Given the description of an element on the screen output the (x, y) to click on. 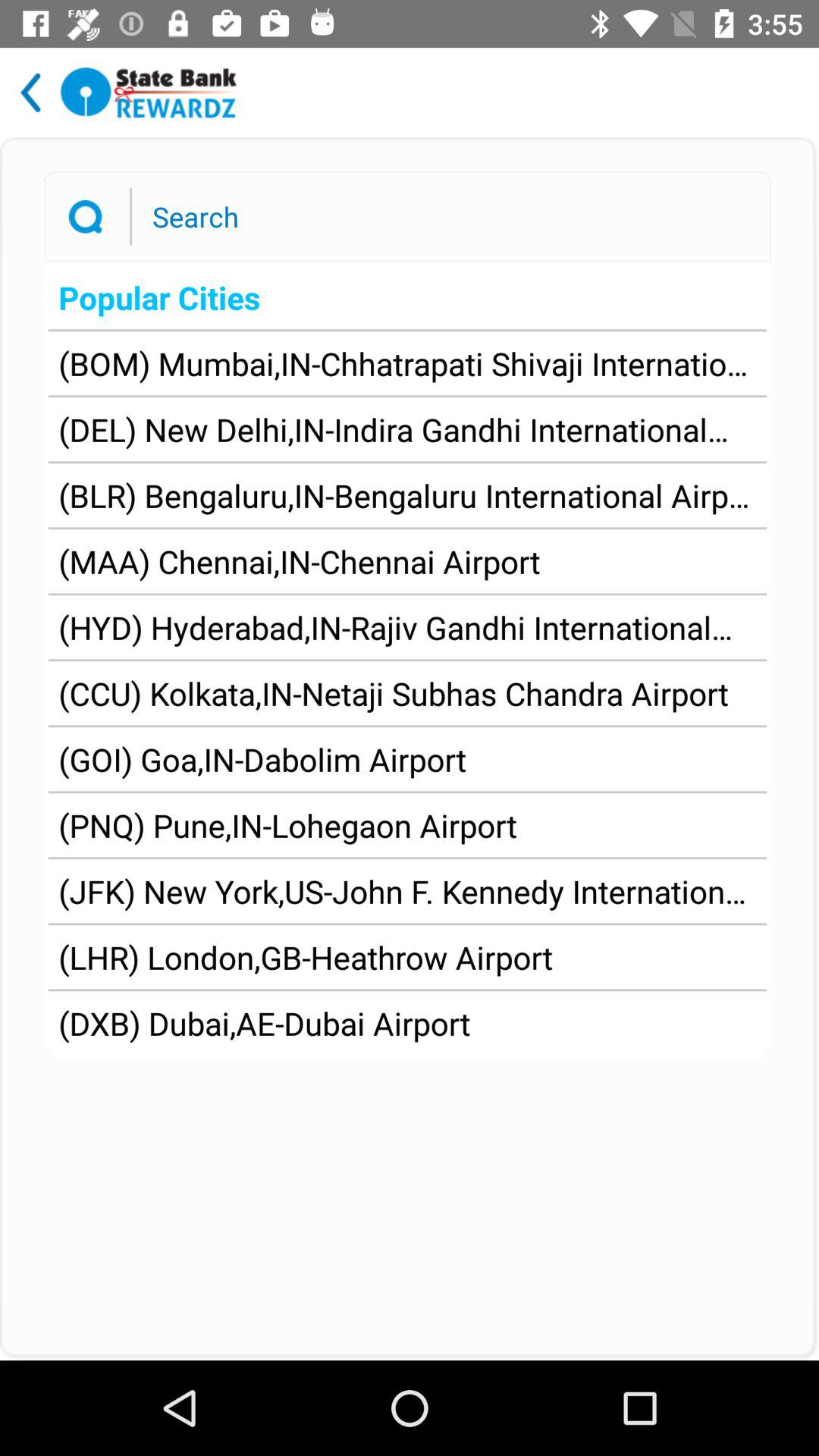
click the app on the left (262, 758)
